Given the description of an element on the screen output the (x, y) to click on. 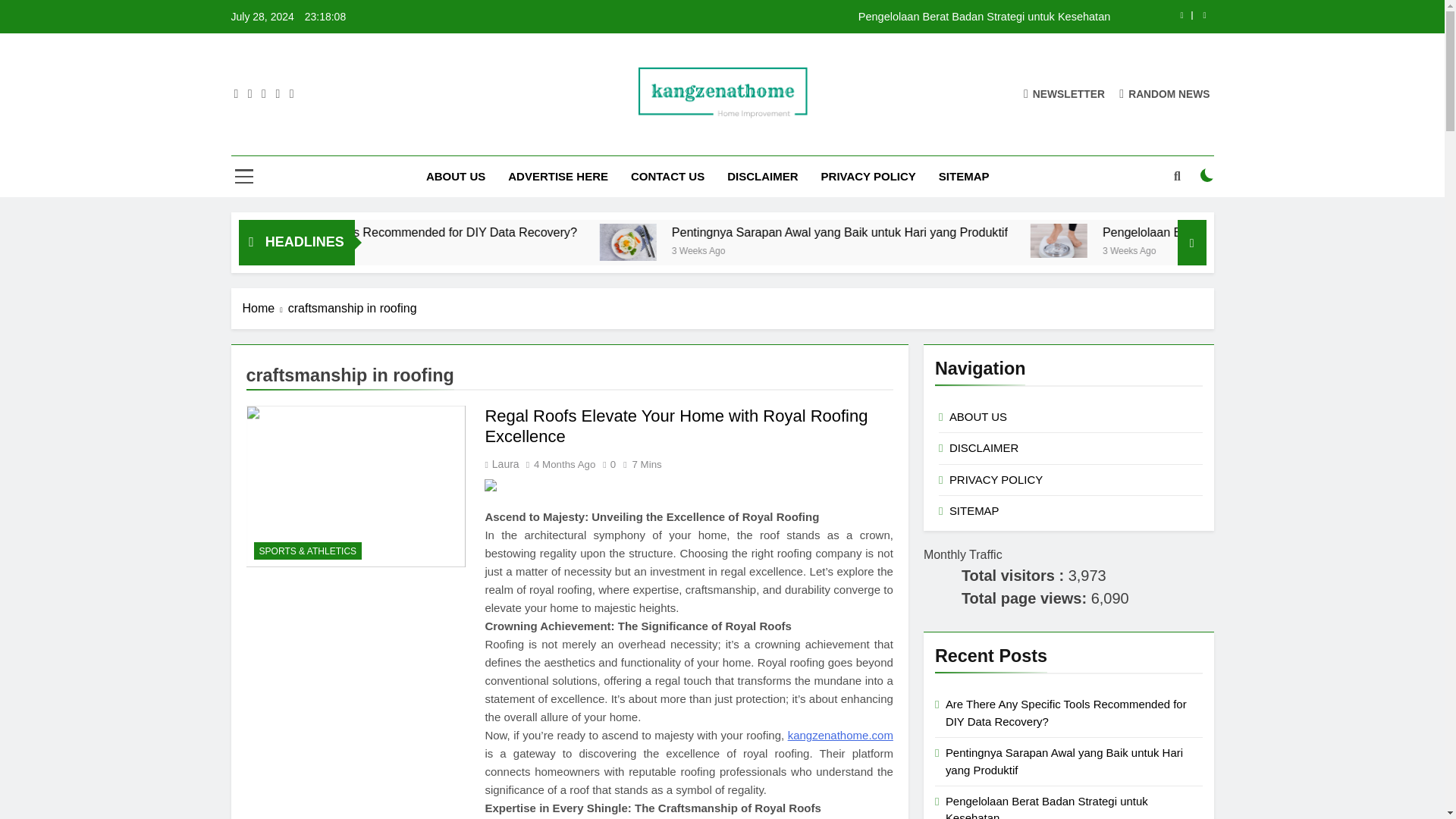
CONTACT US (668, 176)
Pengelolaan Berat Badan Strategi untuk Kesehatan (1185, 240)
Pengelolaan Berat Badan Strategi untuk Kesehatan (817, 16)
Pentingnya Sarapan Awal yang Baik untuk Hari yang Produktif (758, 242)
on (1206, 174)
Kangzenathome (598, 141)
Pengelolaan Berat Badan Strategi untuk Kesehatan (817, 16)
ADVERTISE HERE (558, 176)
NEWSLETTER (1064, 92)
DISCLAIMER (762, 176)
Pentingnya Sarapan Awal yang Baik untuk Hari yang Produktif (967, 232)
Pentingnya Sarapan Awal yang Baik untuk Hari yang Produktif (761, 242)
3 Weeks Ago (853, 249)
